Given the description of an element on the screen output the (x, y) to click on. 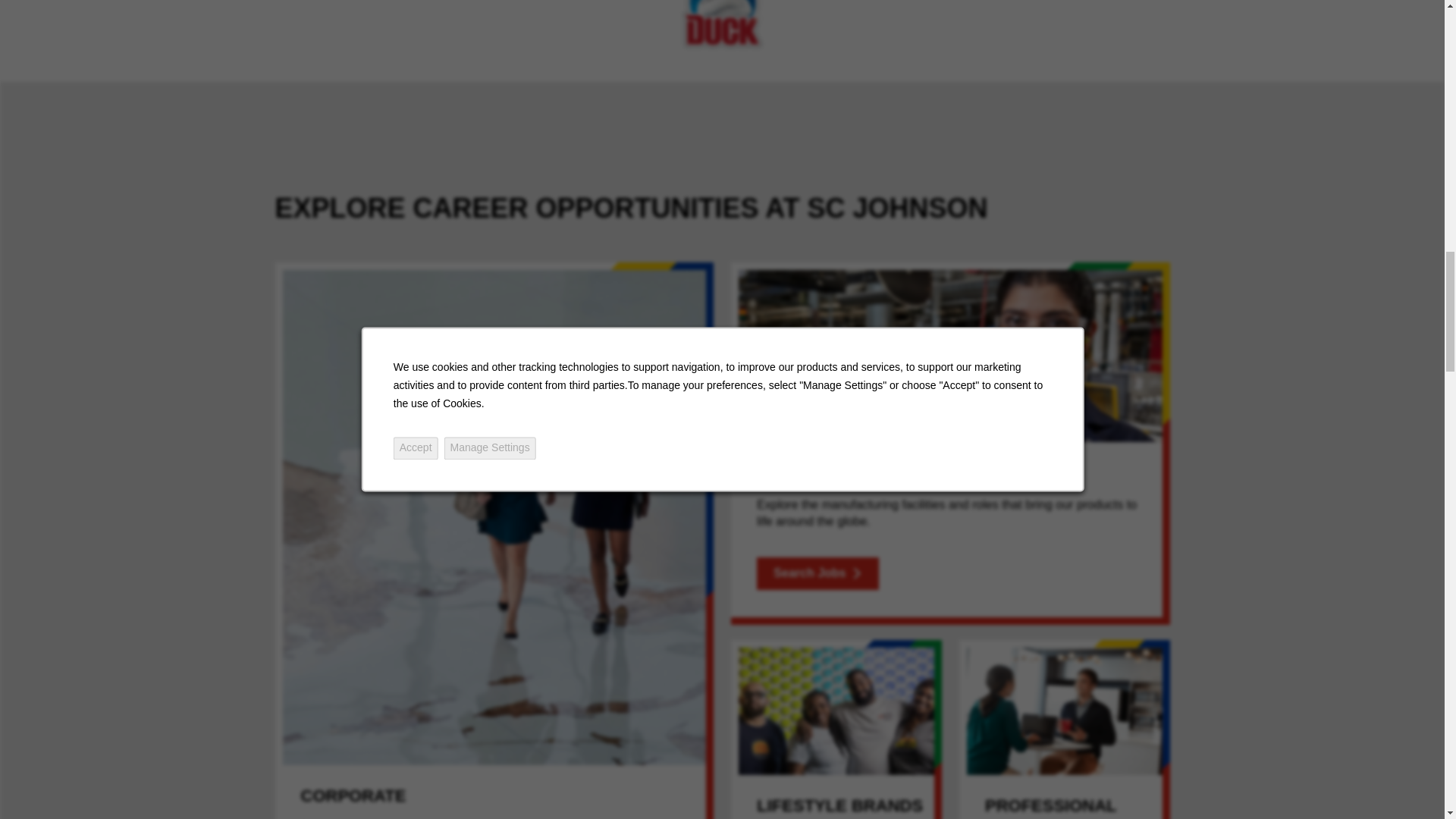
Search Jobs (818, 573)
